Given the description of an element on the screen output the (x, y) to click on. 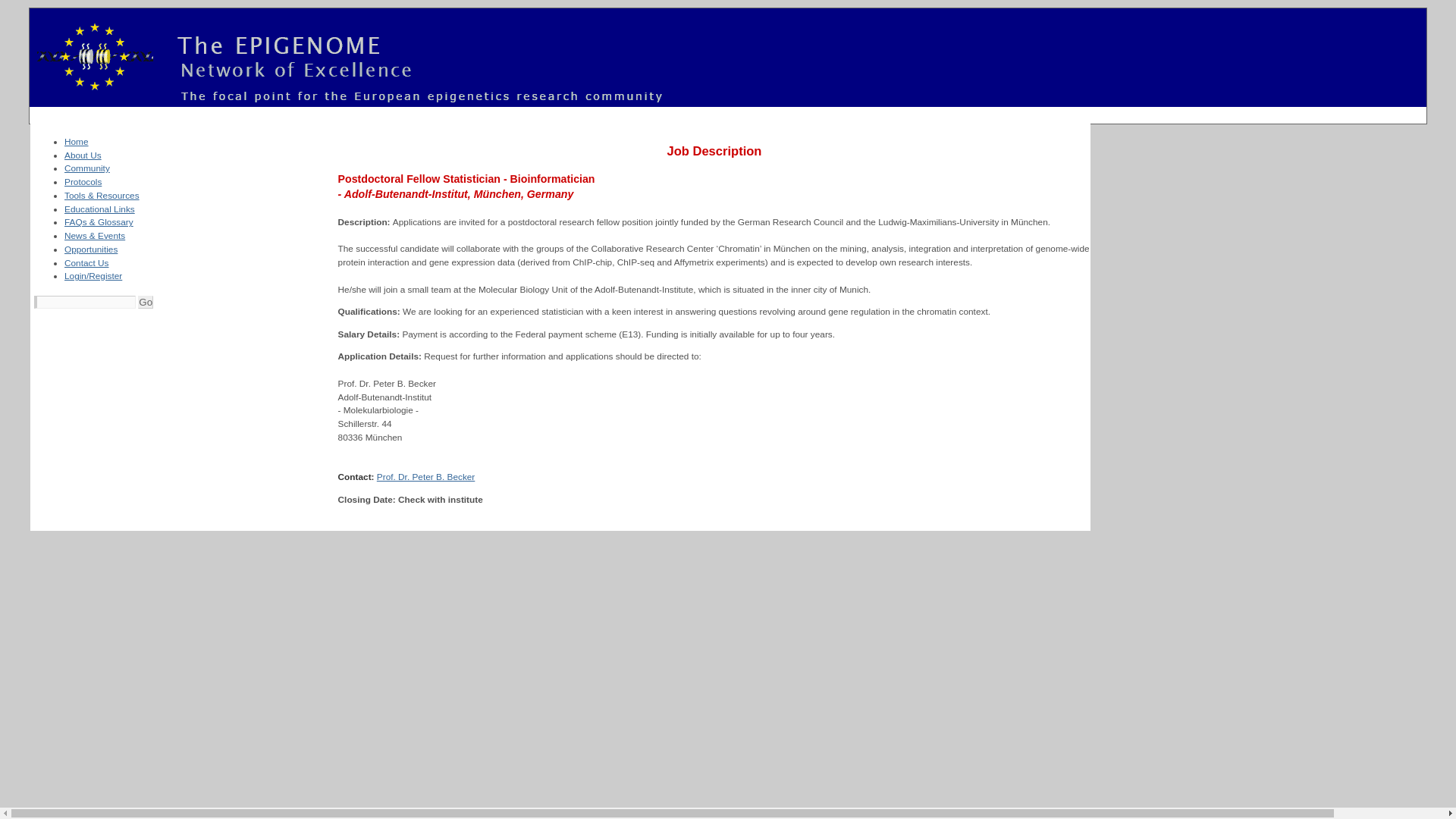
Opportunities (90, 249)
Contact Us (86, 262)
Home (76, 141)
Protocols (82, 181)
Go (145, 301)
Go (145, 301)
About Us (82, 154)
Community (87, 167)
Prof. Dr. Peter B. Becker (426, 476)
Educational Links (99, 208)
